Given the description of an element on the screen output the (x, y) to click on. 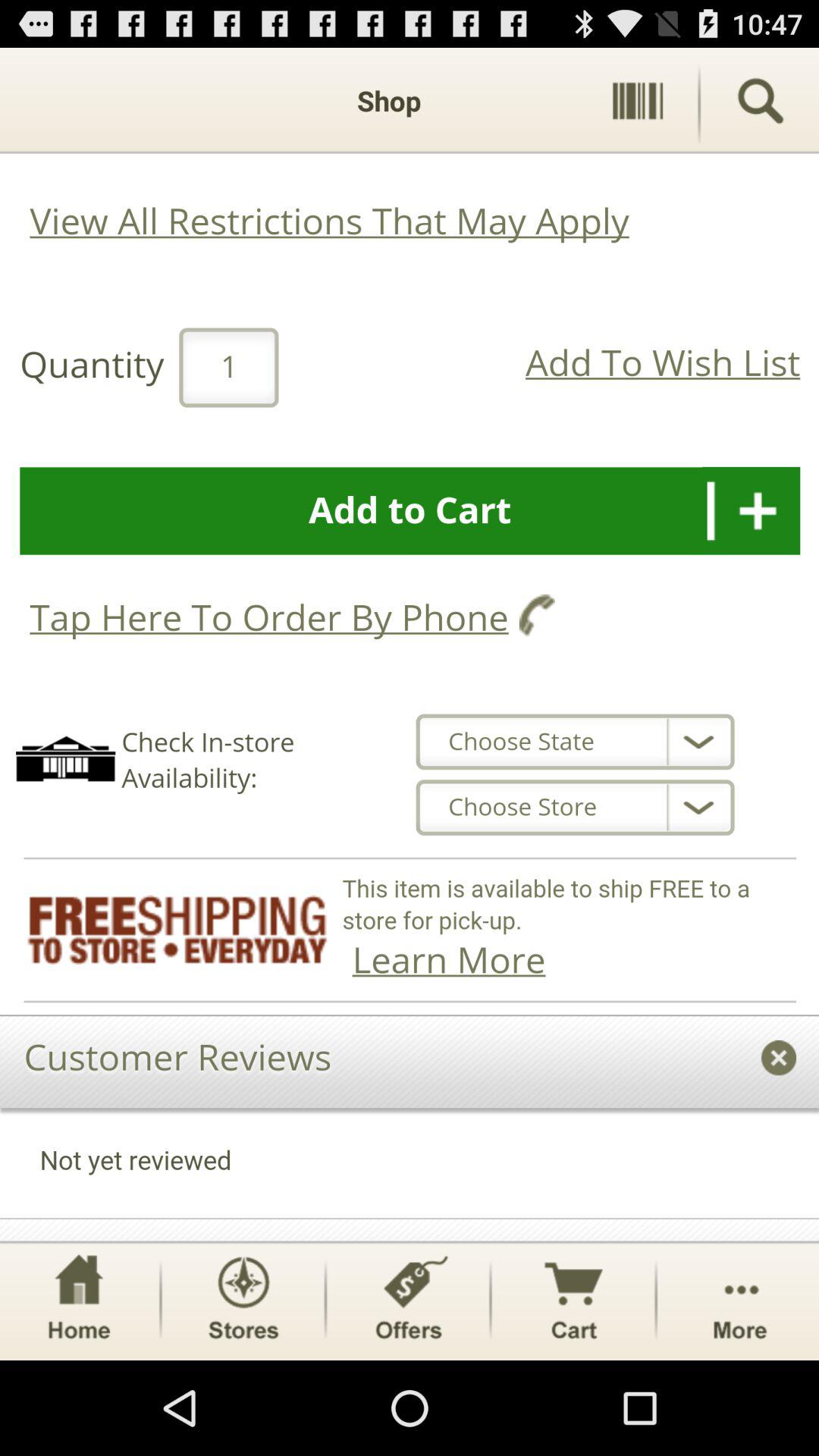
add item to shopping cart (409, 644)
